Given the description of an element on the screen output the (x, y) to click on. 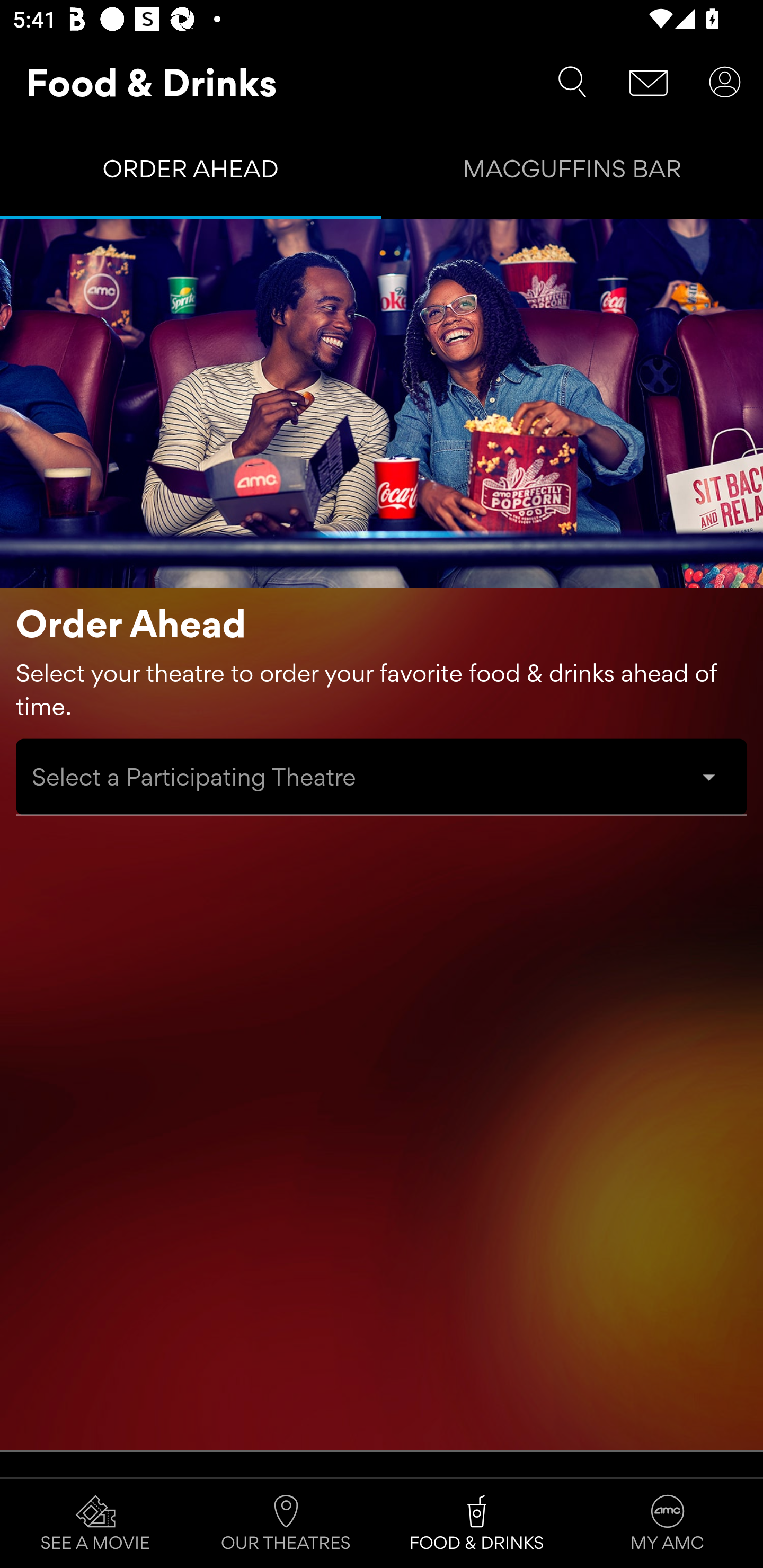
Search (572, 82)
Message Center (648, 82)
User Account (724, 82)
ORDER AHEAD
Tab 1 of 2 (190, 173)
MACGUFFINS BAR
Tab 2 of 2 (572, 173)
SEE A MOVIE
Tab 1 of 4 (95, 1523)
OUR THEATRES
Tab 2 of 4 (285, 1523)
FOOD & DRINKS
Tab 3 of 4 (476, 1523)
MY AMC
Tab 4 of 4 (667, 1523)
